Given the description of an element on the screen output the (x, y) to click on. 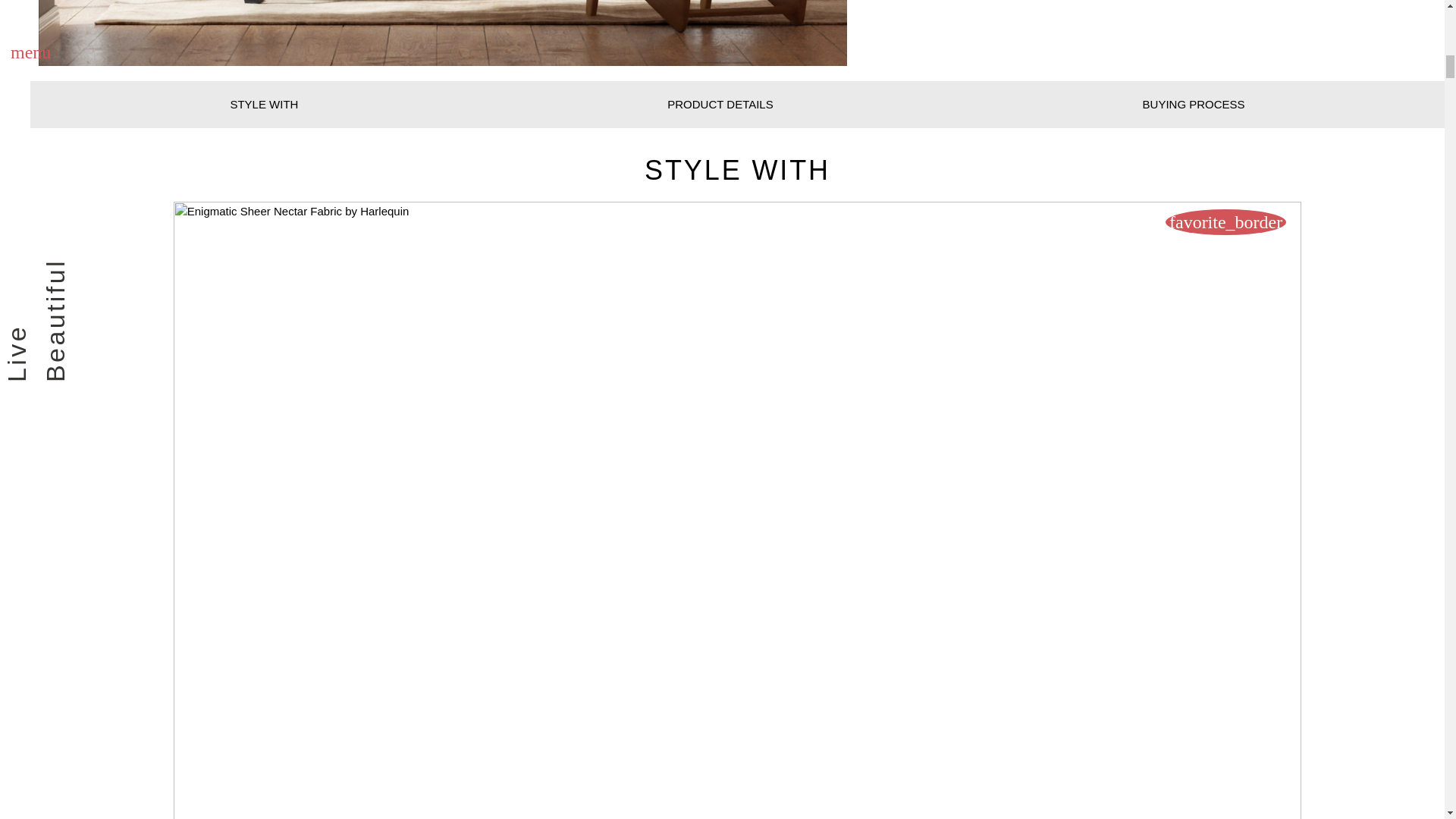
add favourite (1225, 222)
